Given the description of an element on the screen output the (x, y) to click on. 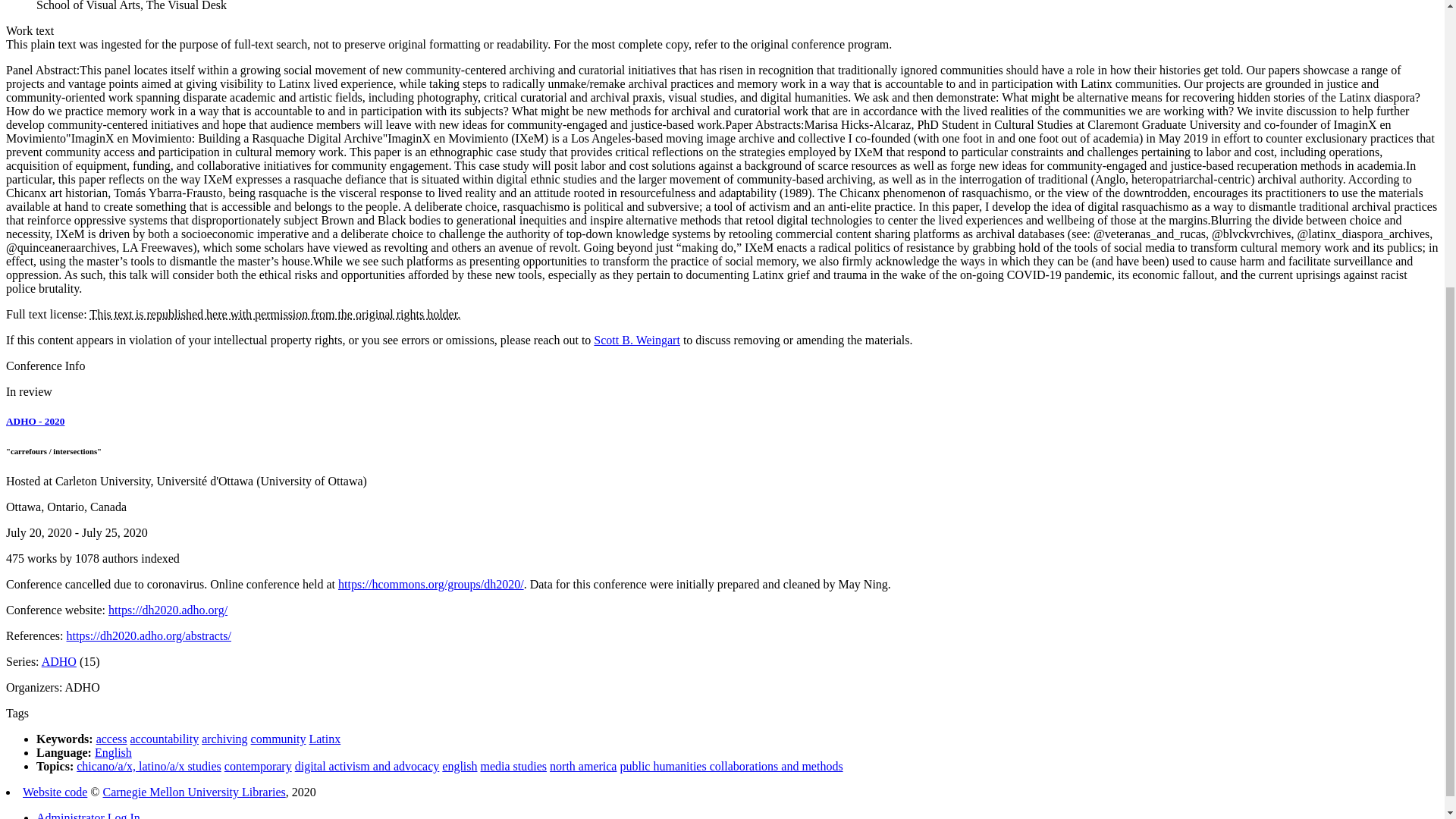
north america (582, 766)
ADHO - 2020 (34, 420)
contemporary (258, 766)
Scott B. Weingart (636, 339)
digital activism and advocacy (367, 766)
english (459, 766)
Carnegie Mellon University Libraries (194, 791)
public humanities collaborations and methods (731, 766)
English (113, 752)
Latinx (324, 738)
ADHO (59, 661)
accountability (165, 738)
Website code (55, 791)
archiving (224, 738)
